Given the description of an element on the screen output the (x, y) to click on. 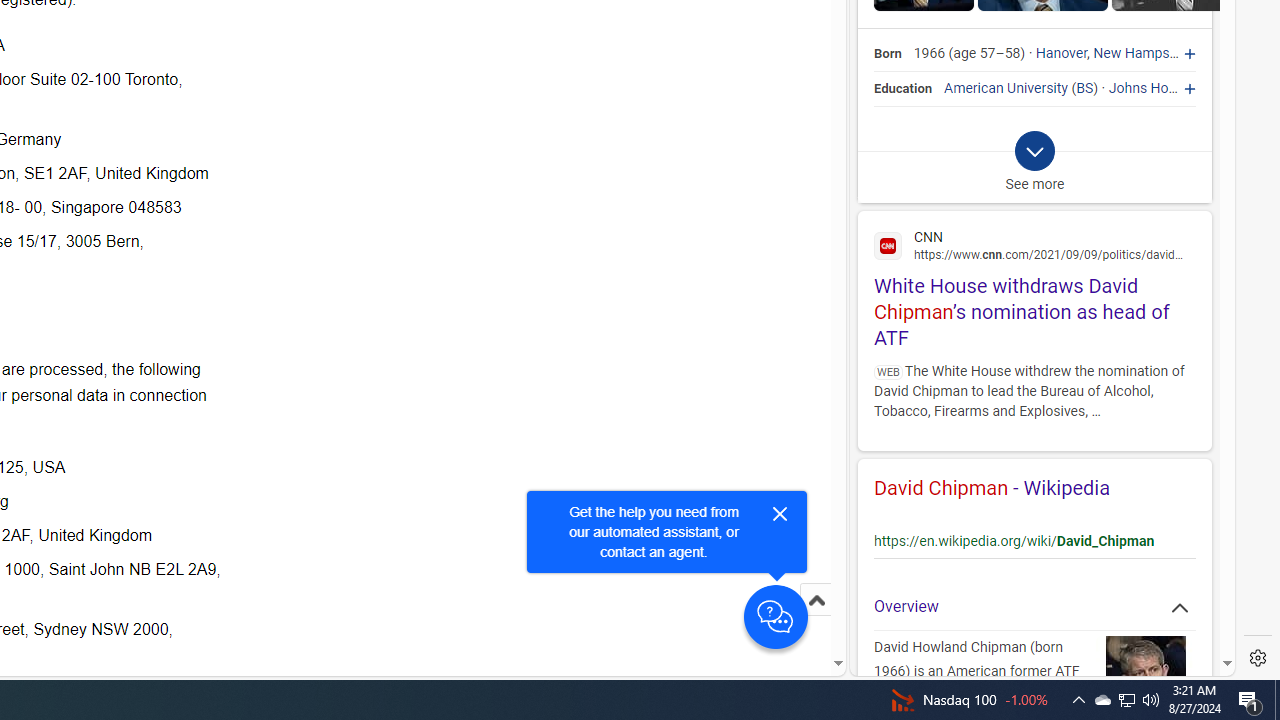
Overview (1034, 606)
Scroll to top (816, 620)
Actions for this site (1163, 525)
Education (903, 88)
Born (888, 53)
Johns Hopkins University (1187, 88)
Class: b_exp_chevron_svg b_expmob_chev (1034, 151)
